Given the description of an element on the screen output the (x, y) to click on. 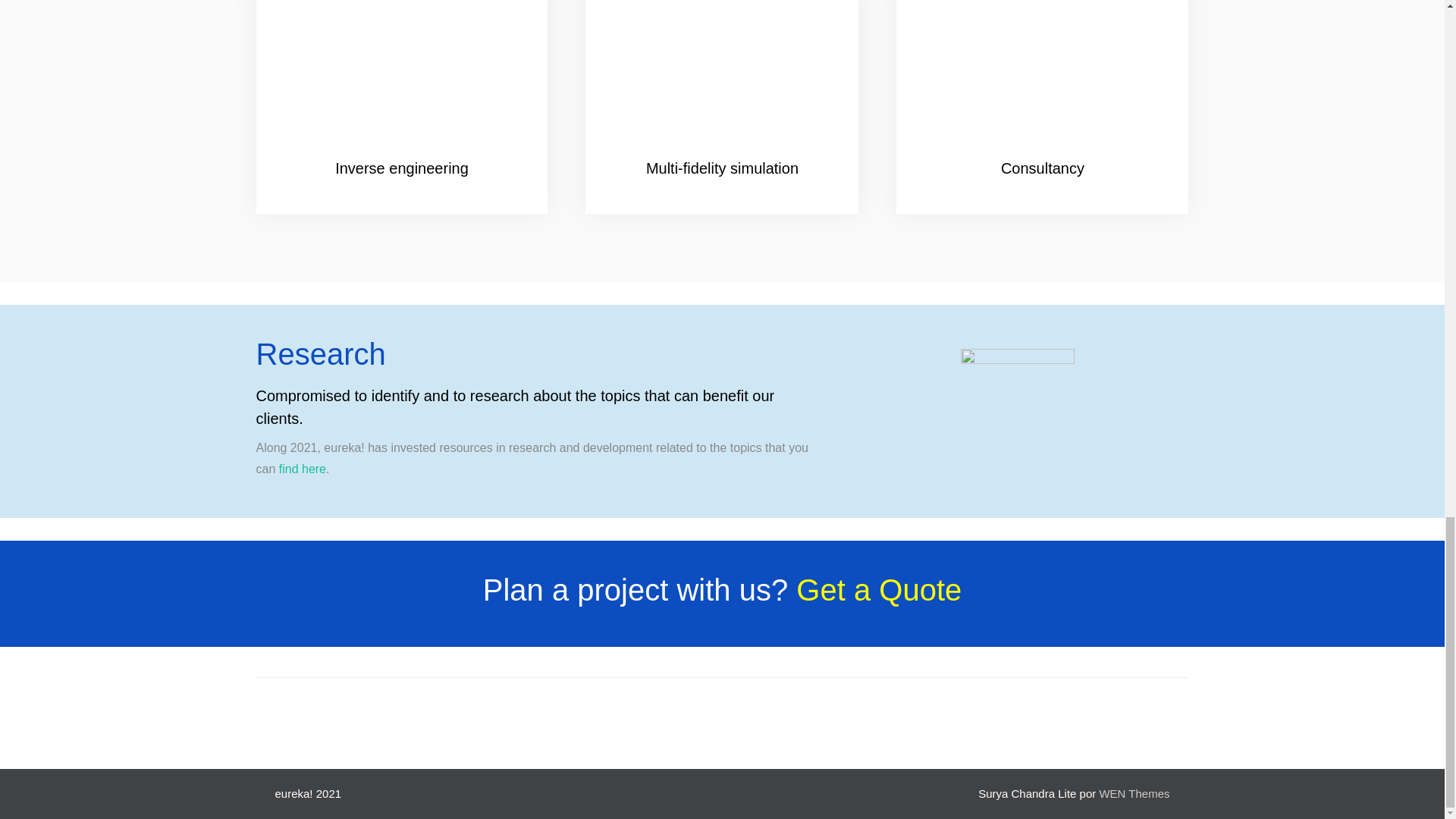
Research (1017, 405)
find here (302, 468)
Get a Quote (878, 589)
Consultancy (1042, 81)
WEN Themes (1134, 793)
Multi-fidelity simulation (721, 81)
InverseEngineering (401, 81)
